Given the description of an element on the screen output the (x, y) to click on. 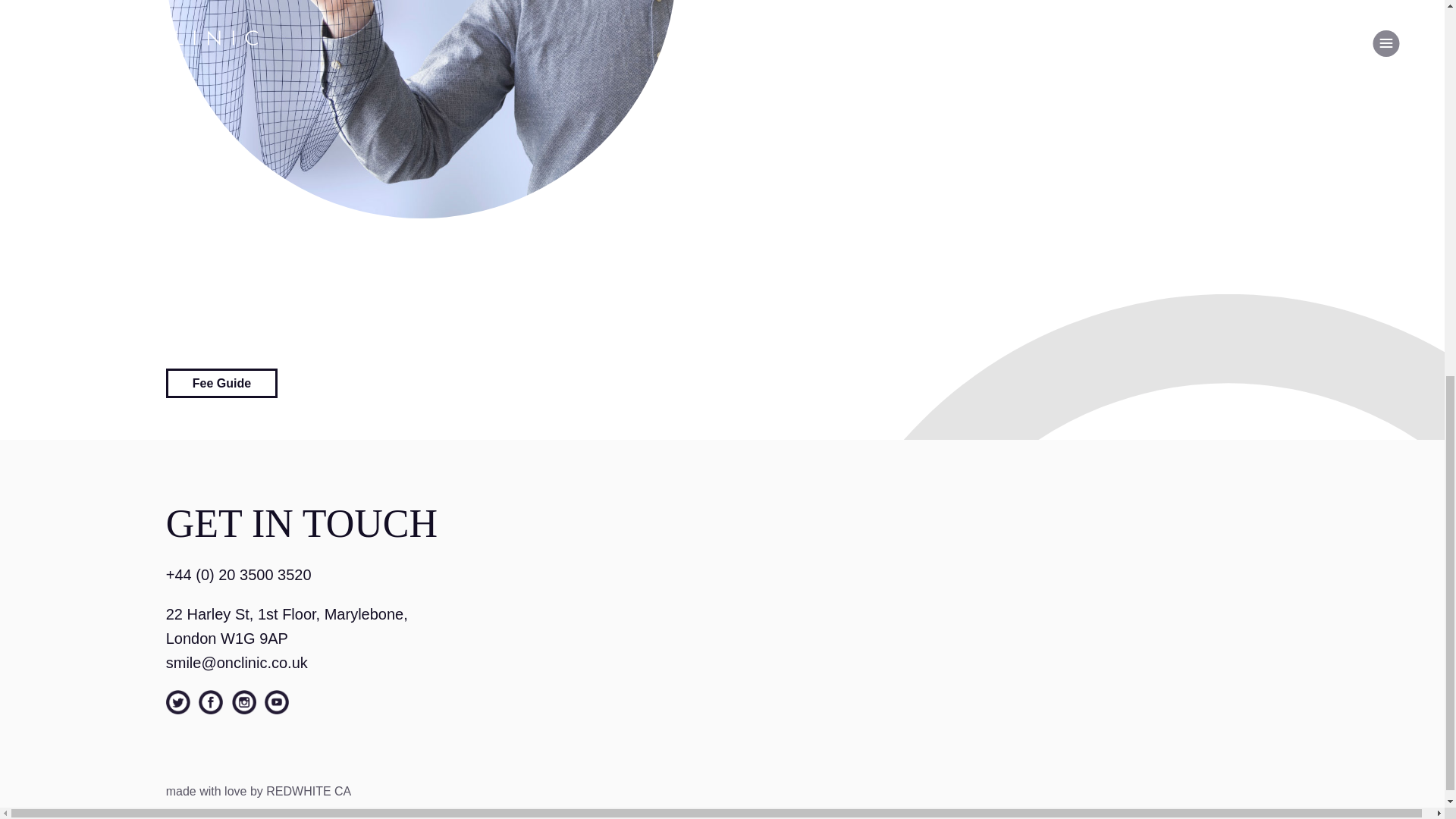
Fee Guide (221, 383)
made with love by REDWHITE CA (258, 790)
